Given the description of an element on the screen output the (x, y) to click on. 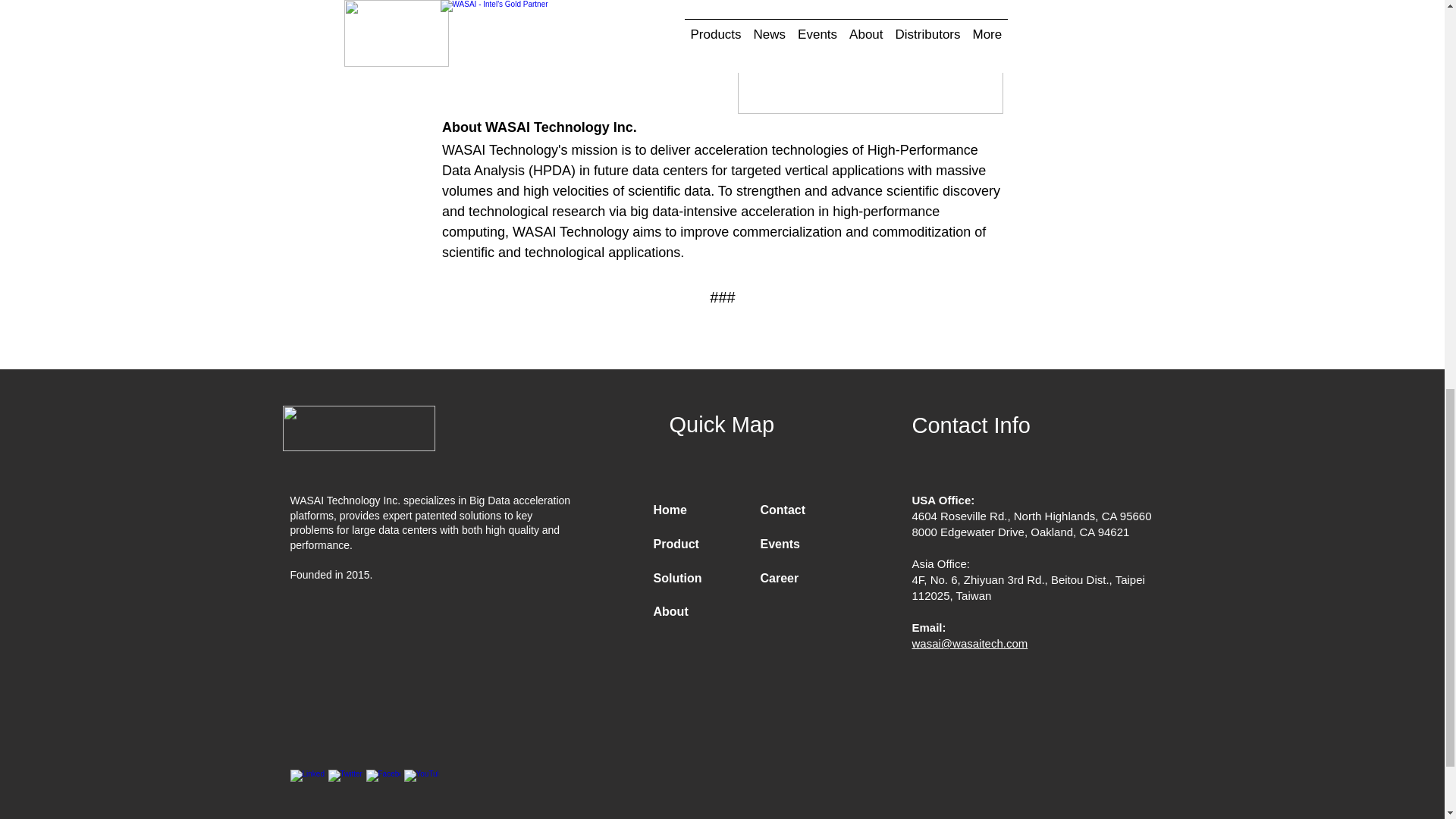
About (670, 611)
Solution (677, 577)
Events (779, 543)
Product (675, 543)
Career (778, 577)
Contact (782, 509)
Home (670, 509)
